Given the description of an element on the screen output the (x, y) to click on. 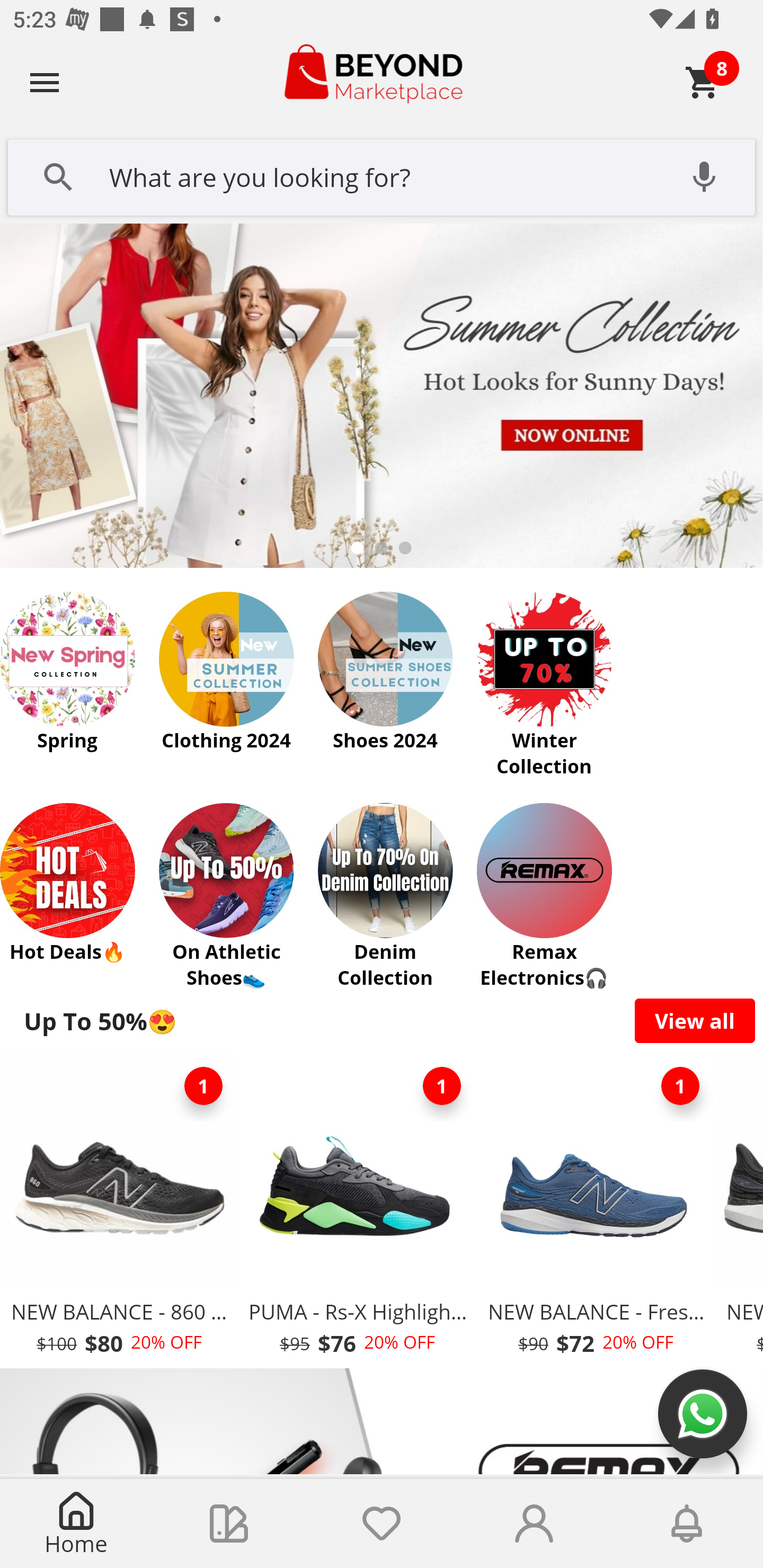
Navigate up (44, 82)
What are you looking for? (381, 175)
View all (694, 1020)
1 NEW BALANCE - 860 Running Shoes $100 $80 20% OFF (119, 1209)
1 (203, 1085)
1 (441, 1085)
1 (680, 1085)
Collections (228, 1523)
Wishlist (381, 1523)
Account (533, 1523)
Notifications (686, 1523)
